Given the description of an element on the screen output the (x, y) to click on. 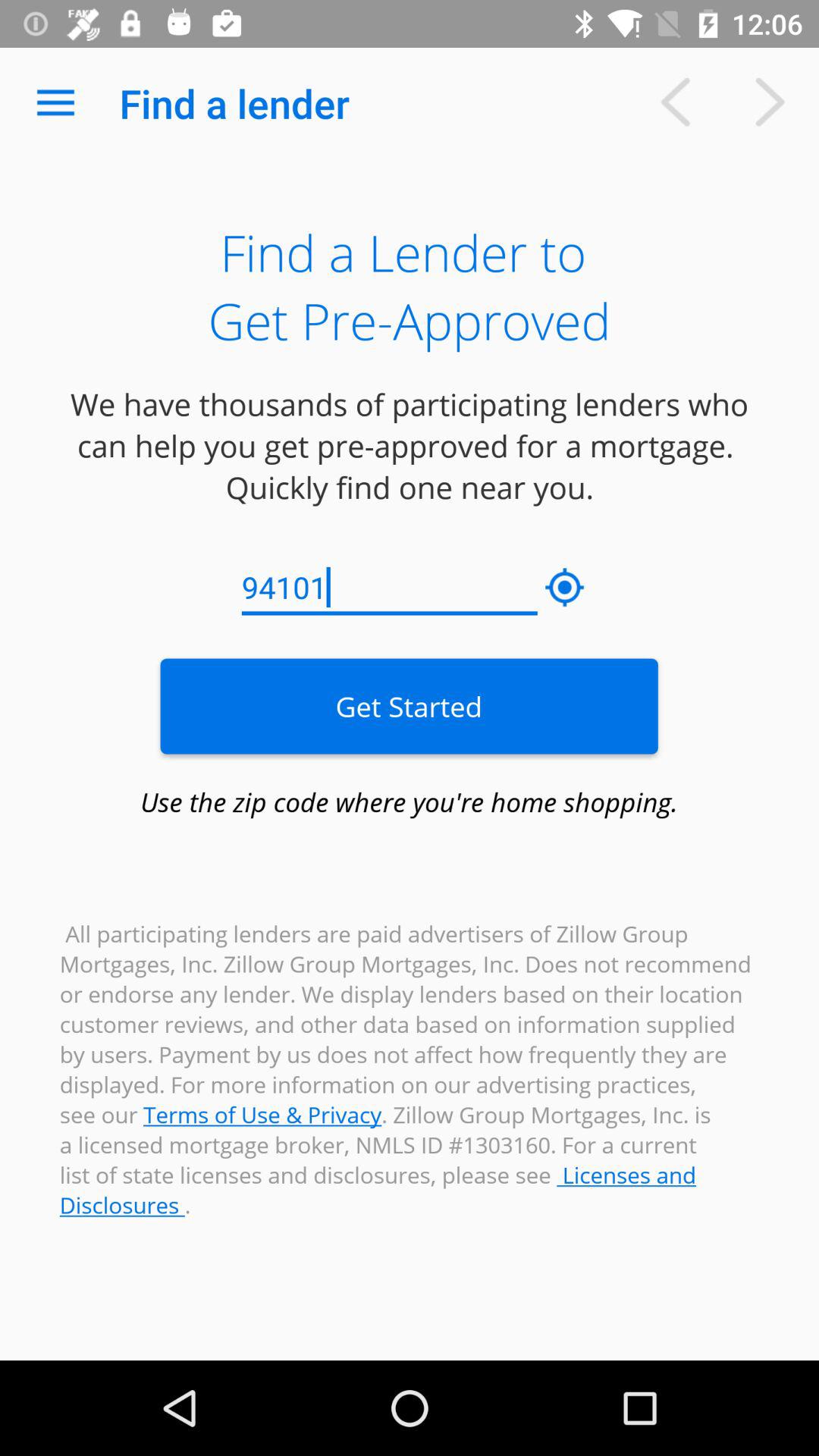
select get started (409, 706)
